Given the description of an element on the screen output the (x, y) to click on. 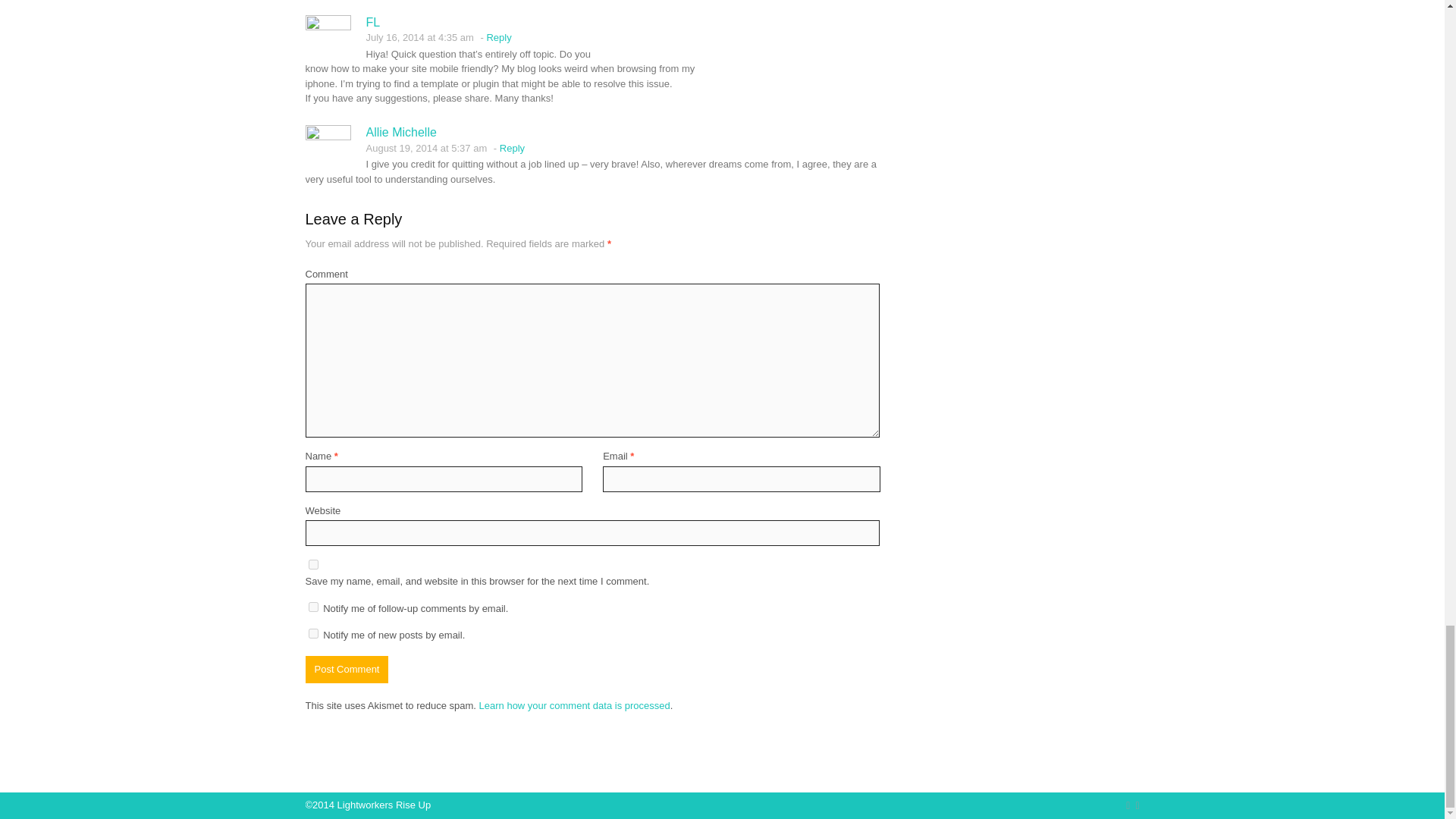
subscribe (312, 633)
subscribe (312, 606)
yes (312, 564)
Post Comment (346, 669)
